Given the description of an element on the screen output the (x, y) to click on. 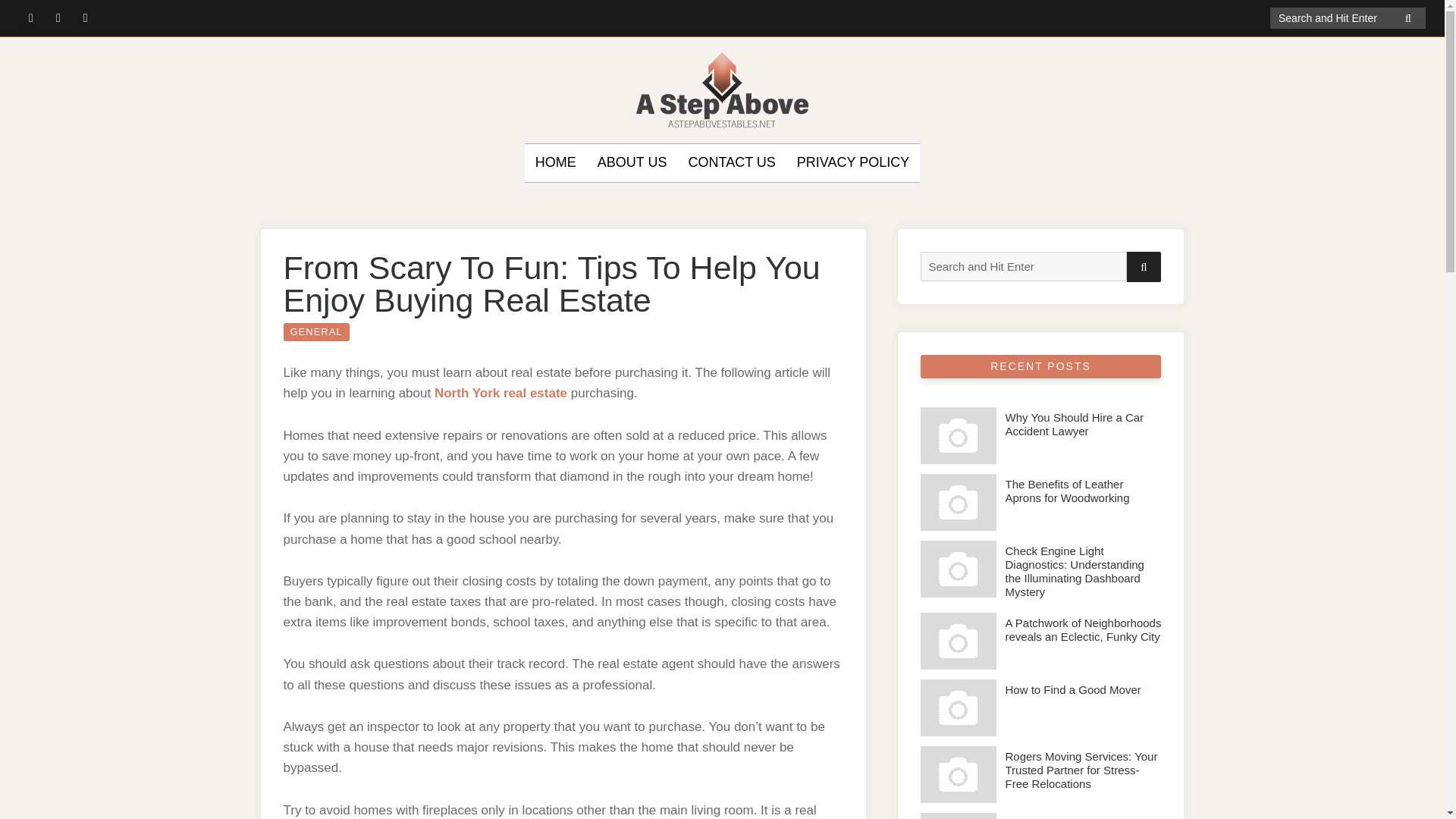
Why You Should Hire a Car Accident Lawyer (1075, 424)
A Patchwork of Neighborhoods reveals an Eclectic, Funky City (1083, 629)
North York real estate (500, 392)
The Benefits of Leather Aprons for Woodworking (957, 502)
Twitter (57, 17)
CONTACT US (730, 162)
Instagram (85, 17)
The Benefits of Leather Aprons for Woodworking (1067, 490)
HOME (555, 162)
How to Find a Good Mover (1073, 689)
GENERAL (316, 331)
A Patchwork of Neighborhoods reveals an Eclectic, Funky City (957, 640)
Why You Should Hire a Car Accident Lawyer (957, 435)
The Benefits of Leather Aprons for Woodworking (1067, 490)
